Given the description of an element on the screen output the (x, y) to click on. 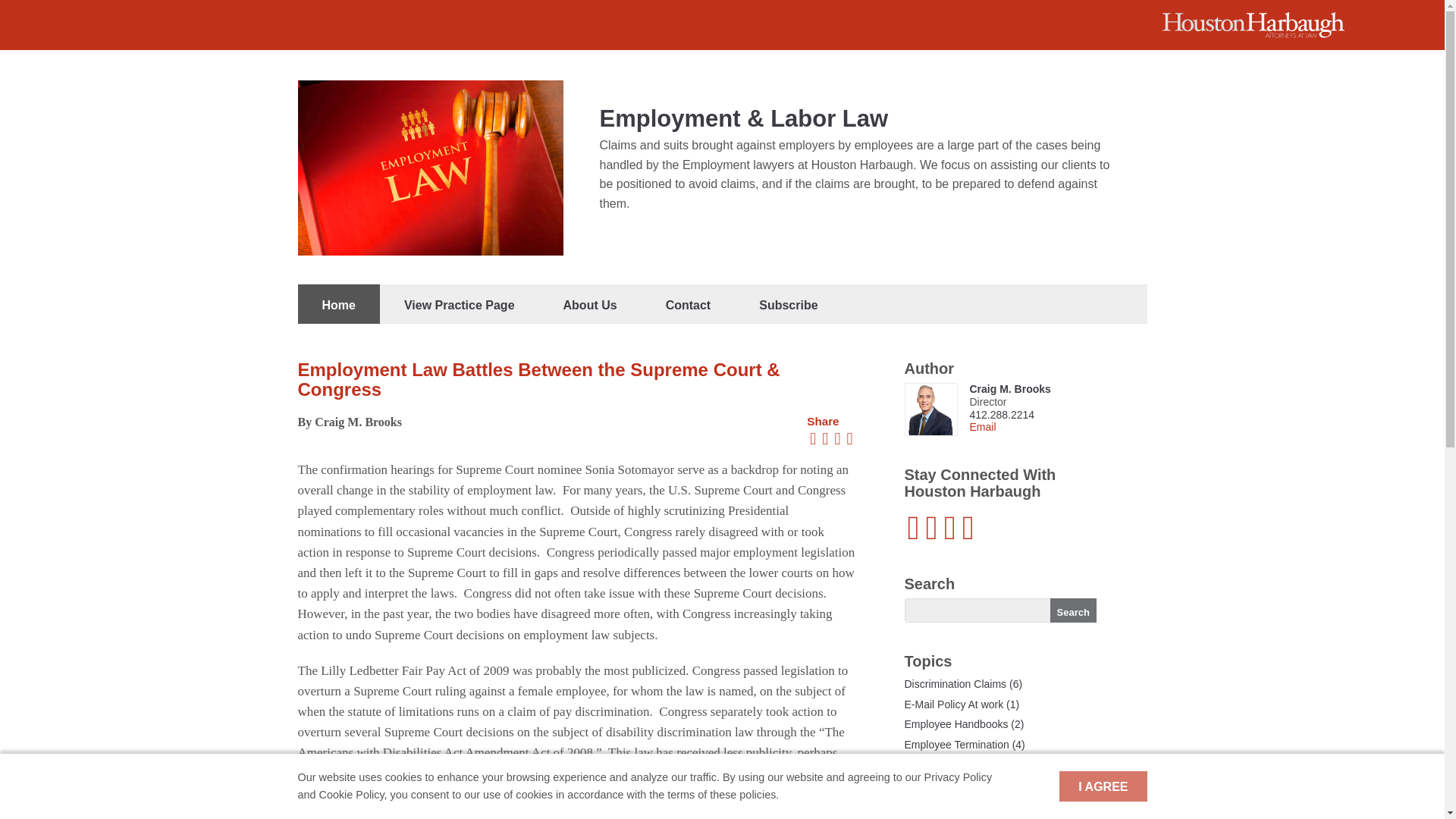
Craig M. Brooks (1009, 388)
Home (337, 303)
412.288.2214 (1001, 414)
About Us (590, 303)
View Practice Page (459, 303)
Contact (688, 303)
Subscribe (788, 303)
Search (1072, 610)
Email (982, 426)
